Given the description of an element on the screen output the (x, y) to click on. 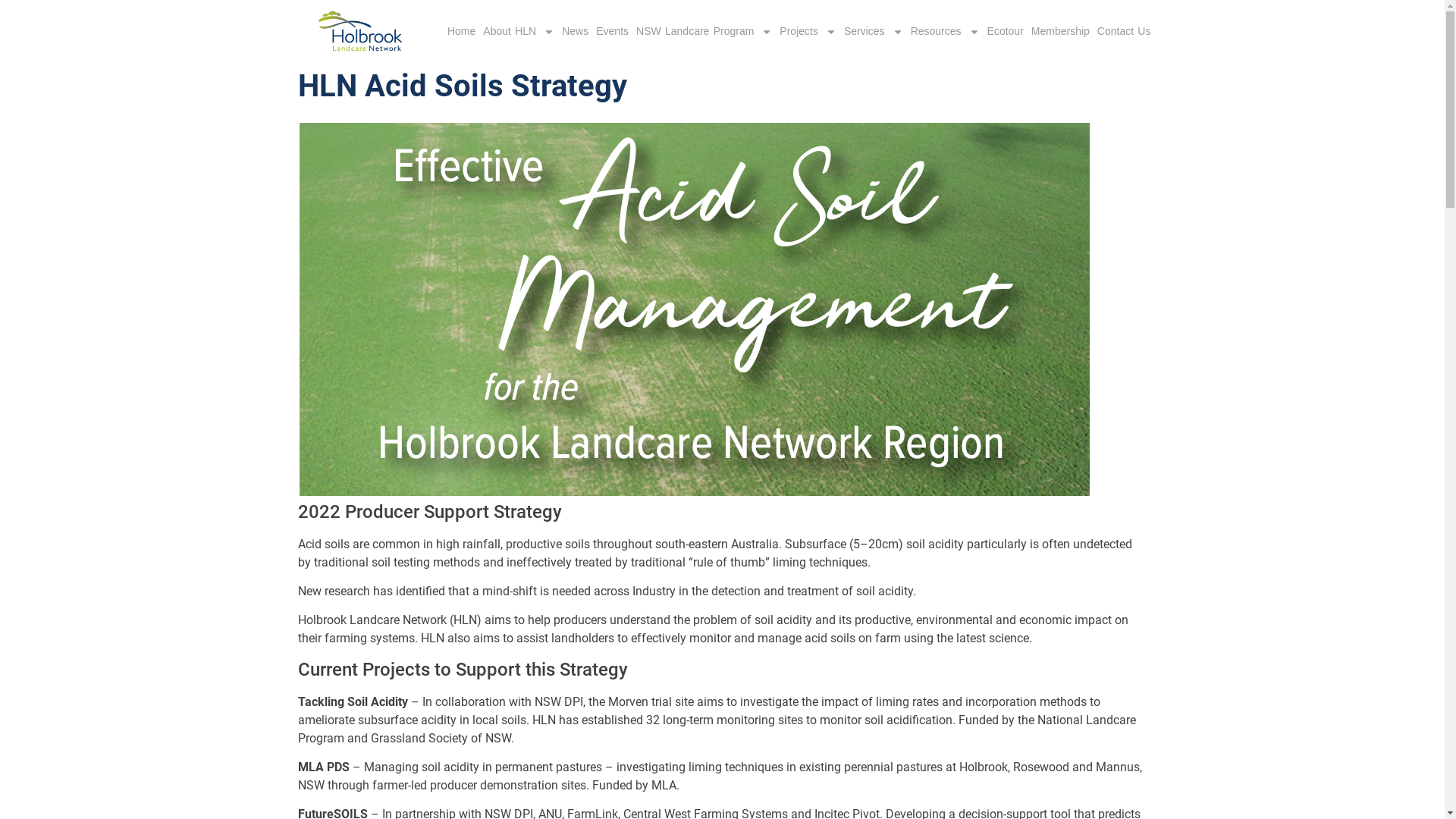
Contact Us Element type: text (1123, 31)
Membership Element type: text (1060, 31)
Home Element type: text (461, 31)
Resources Element type: text (944, 31)
NSW Landcare Program Element type: text (703, 31)
News Element type: text (575, 31)
Services Element type: text (873, 31)
Ecotour Element type: text (1005, 31)
Events Element type: text (612, 31)
About HLN Element type: text (518, 31)
Projects Element type: text (807, 31)
